Given the description of an element on the screen output the (x, y) to click on. 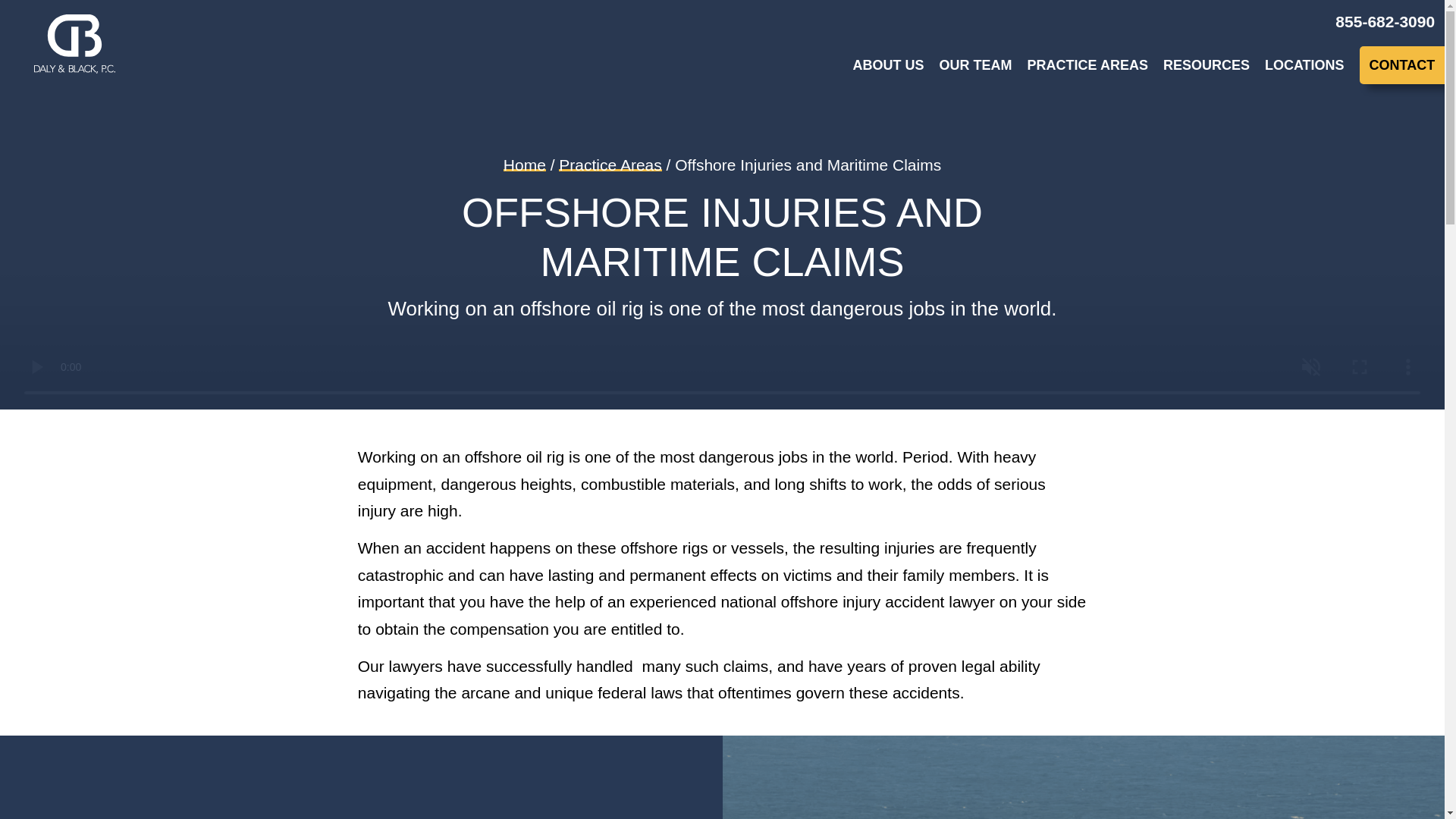
LOCATIONS (1296, 65)
PRACTICE AREAS (1079, 65)
RESOURCES (1198, 65)
ABOUT US (881, 65)
OUR TEAM (967, 65)
